Given the description of an element on the screen output the (x, y) to click on. 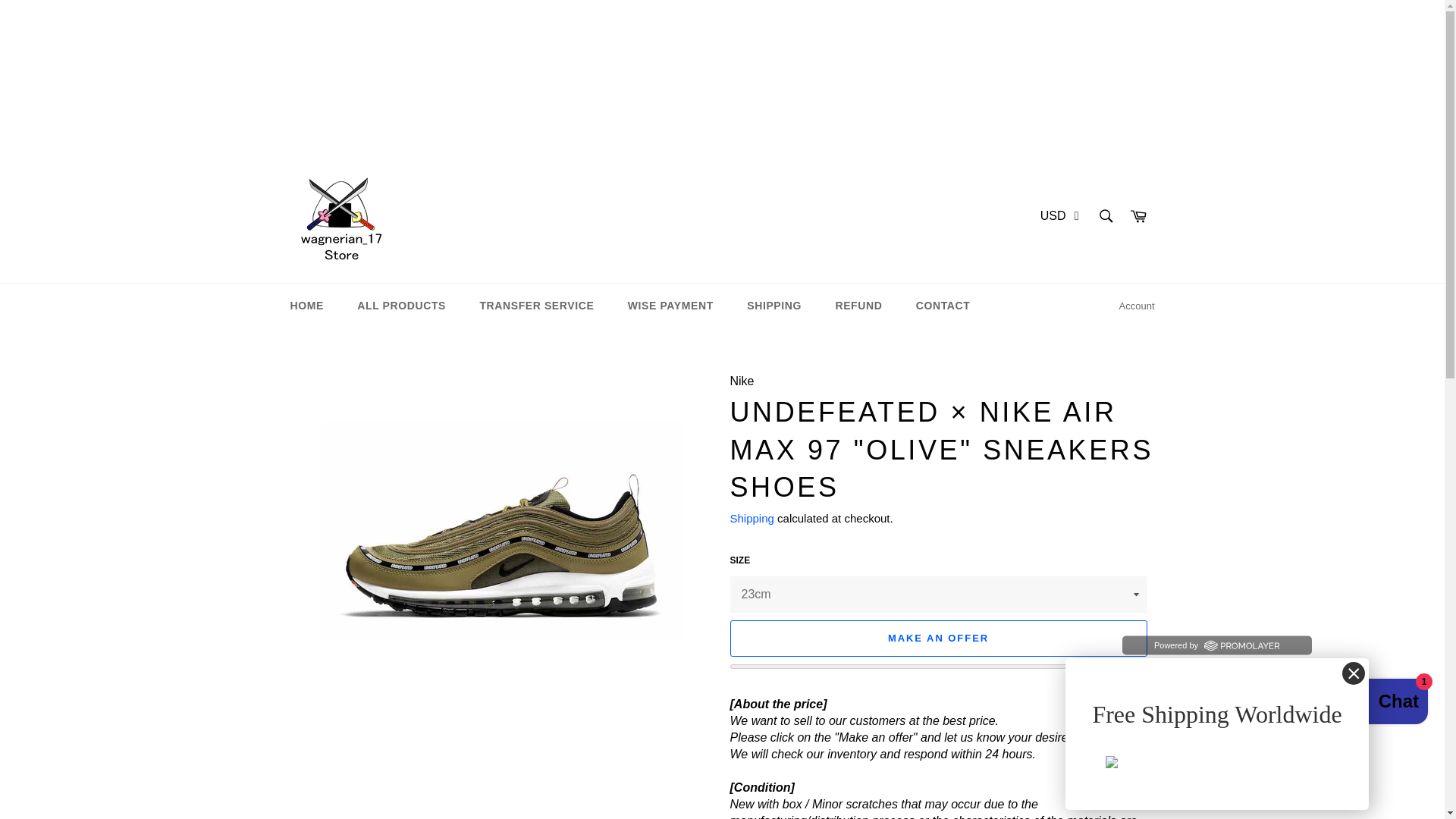
Cart (1138, 216)
Shopify online store chat (1383, 703)
REFUND (857, 305)
SHIPPING (774, 305)
WISE PAYMENT (670, 305)
CONTACT (943, 305)
MAKE AN OFFER (938, 637)
ALL PRODUCTS (401, 305)
TRANSFER SERVICE (536, 305)
USD (1053, 217)
HOME (306, 305)
Search (1104, 215)
Shipping (751, 517)
Account (1136, 306)
